Given the description of an element on the screen output the (x, y) to click on. 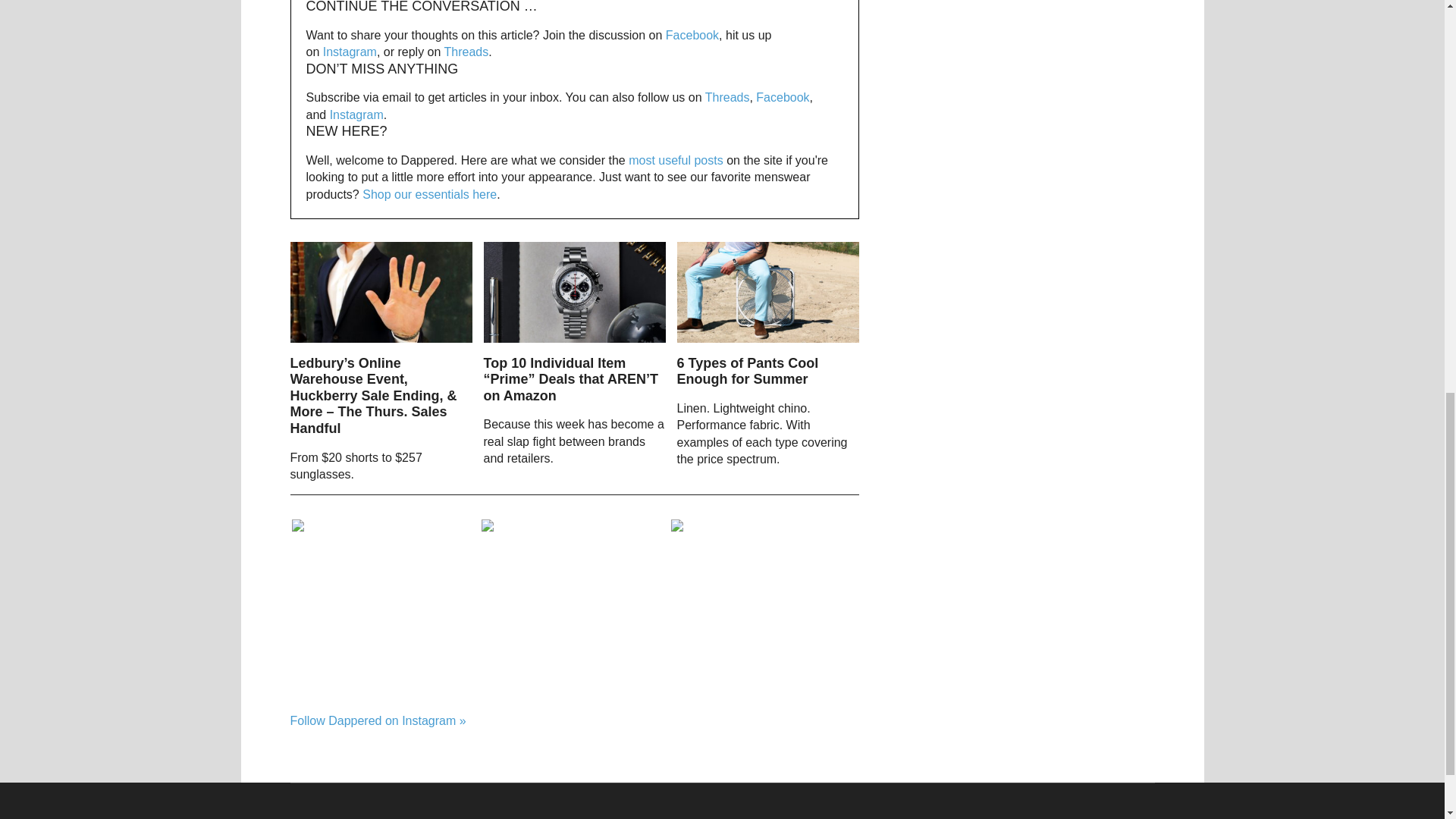
most useful posts (675, 160)
Facebook (782, 97)
Threads (726, 97)
Facebook (692, 34)
Shop our essentials here (429, 194)
Instagram (357, 114)
Instagram (350, 51)
Threads (466, 51)
